Given the description of an element on the screen output the (x, y) to click on. 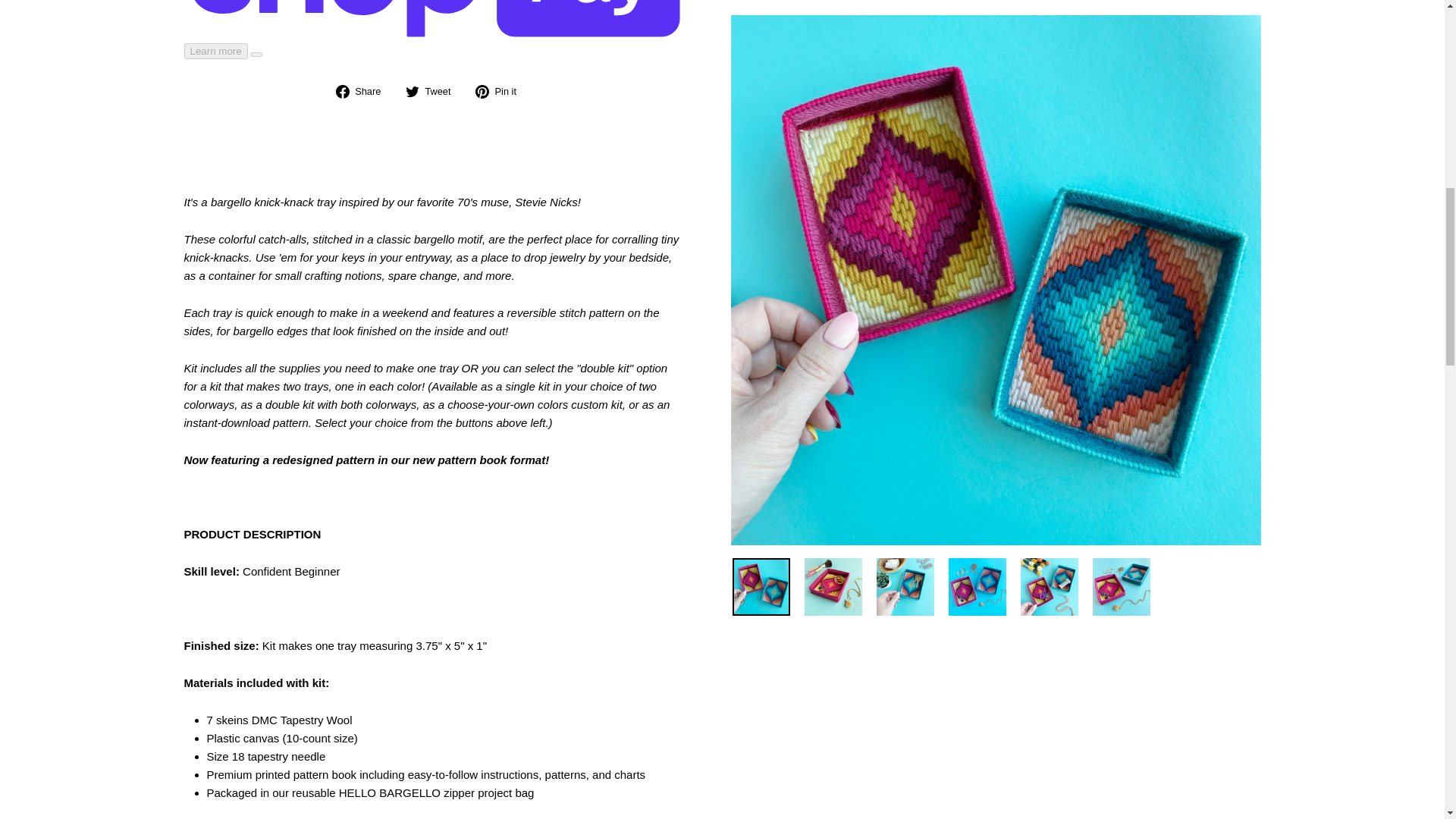
Share on Facebook (363, 90)
Tweet on Twitter (433, 90)
twitter (412, 91)
Pin on Pinterest (501, 90)
